Given the description of an element on the screen output the (x, y) to click on. 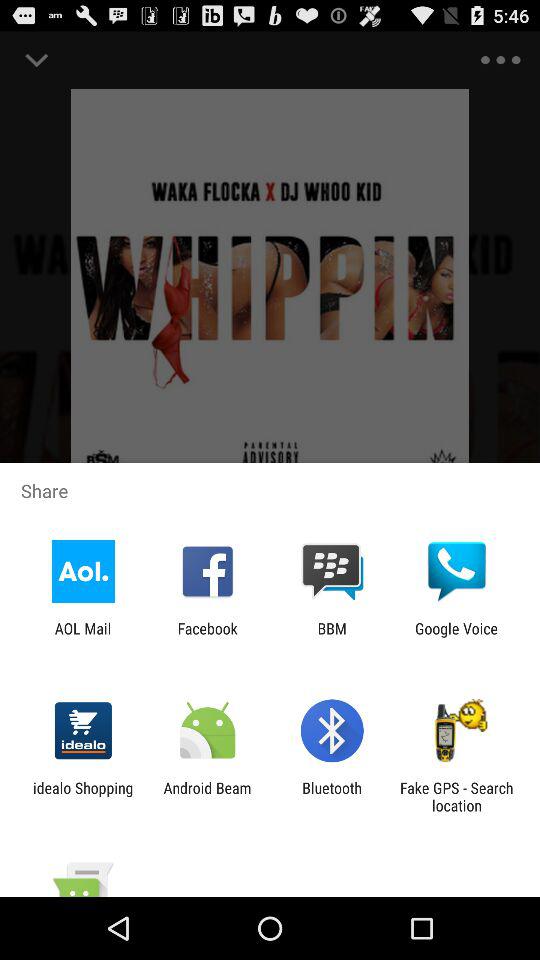
select the icon to the right of the aol mail item (207, 637)
